Given the description of an element on the screen output the (x, y) to click on. 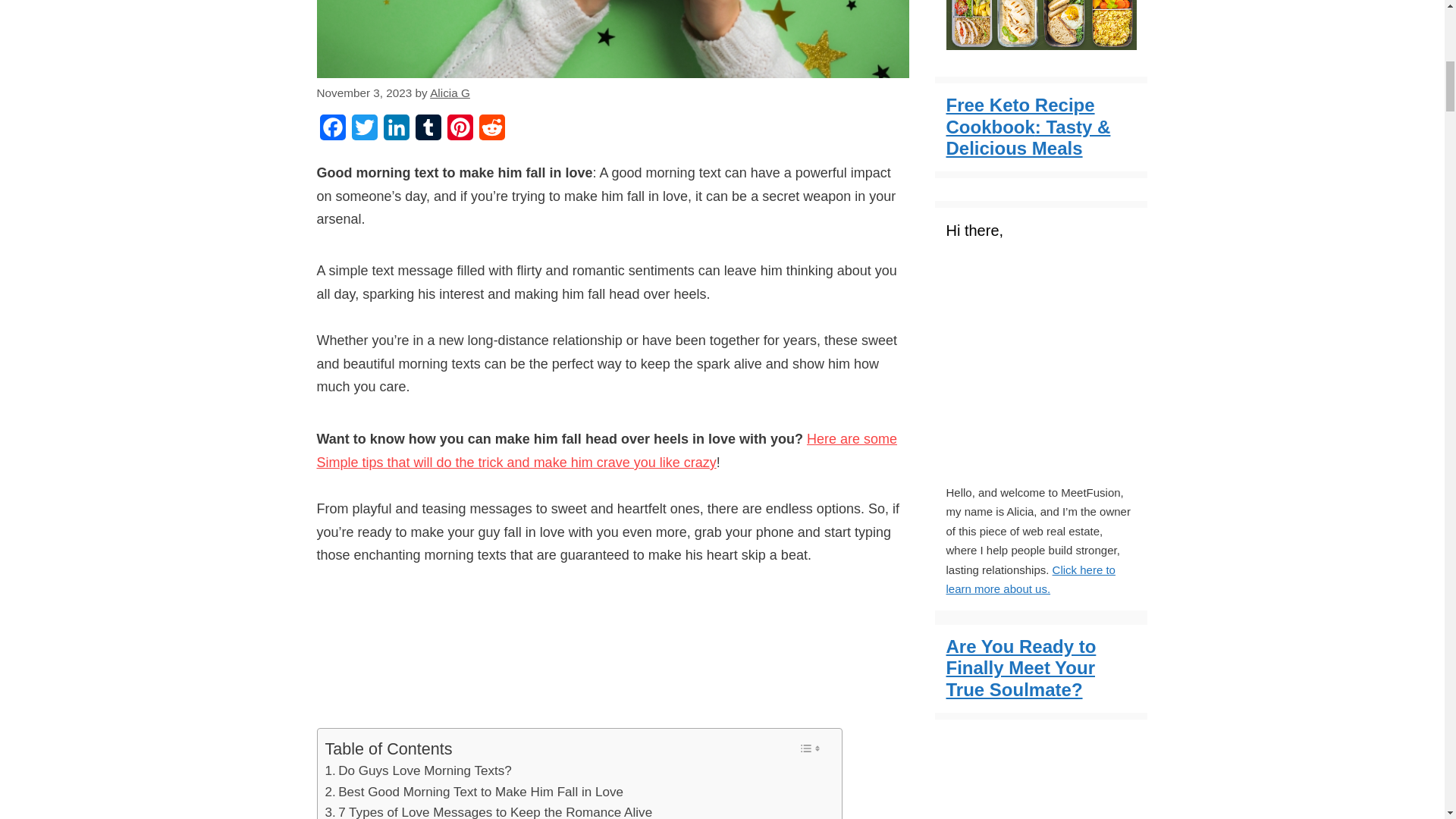
Do Guys Love Morning Texts? (417, 770)
LinkedIn (396, 131)
Facebook (333, 131)
Reddit (492, 131)
Reddit (492, 131)
Facebook (333, 131)
View all posts by Alicia G (449, 92)
7 Types of Love Messages to Keep the Romance Alive (488, 810)
LinkedIn (396, 131)
Pinterest (460, 131)
